Given the description of an element on the screen output the (x, y) to click on. 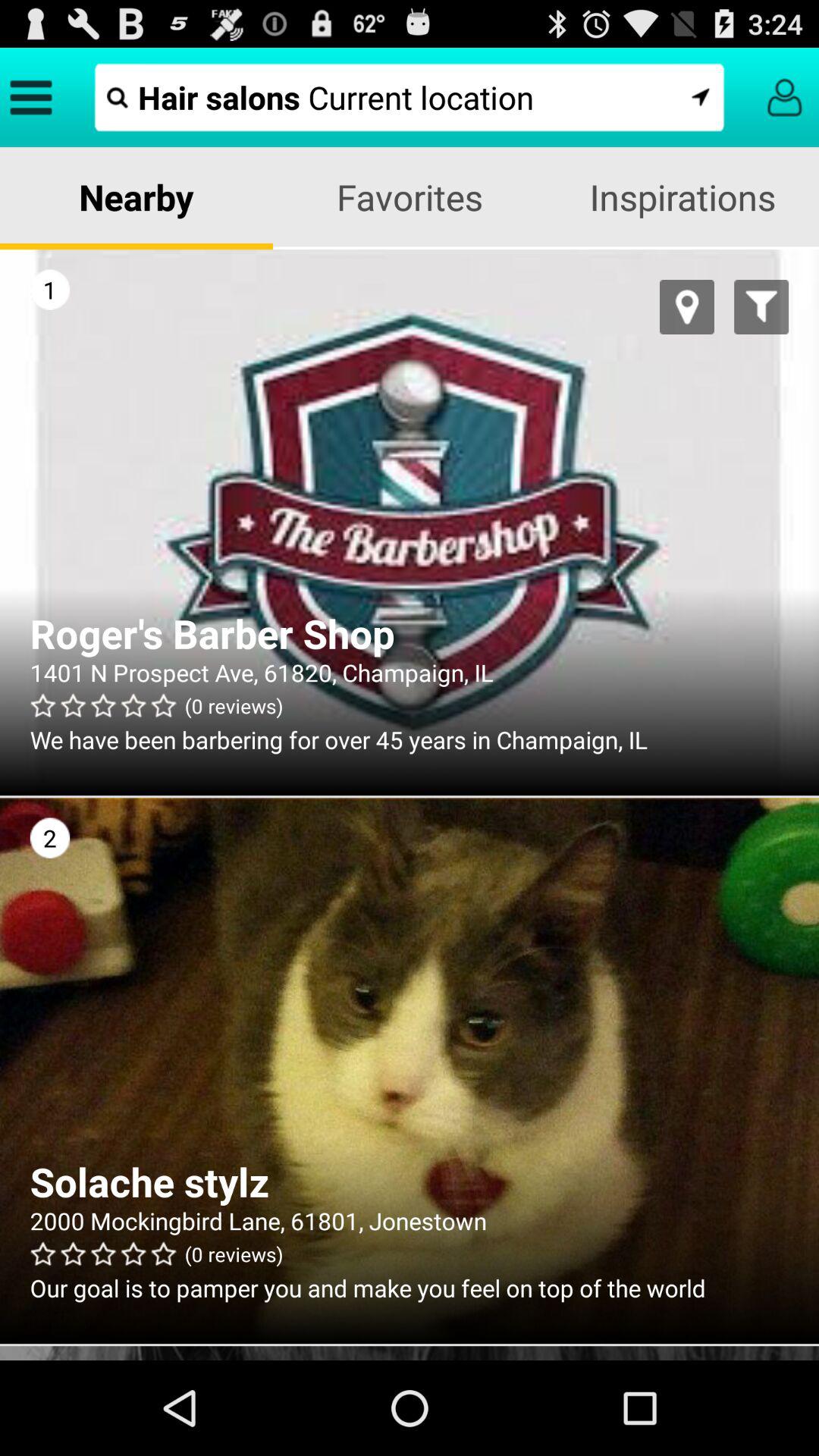
turn on the app above (0 reviews) app (409, 632)
